Given the description of an element on the screen output the (x, y) to click on. 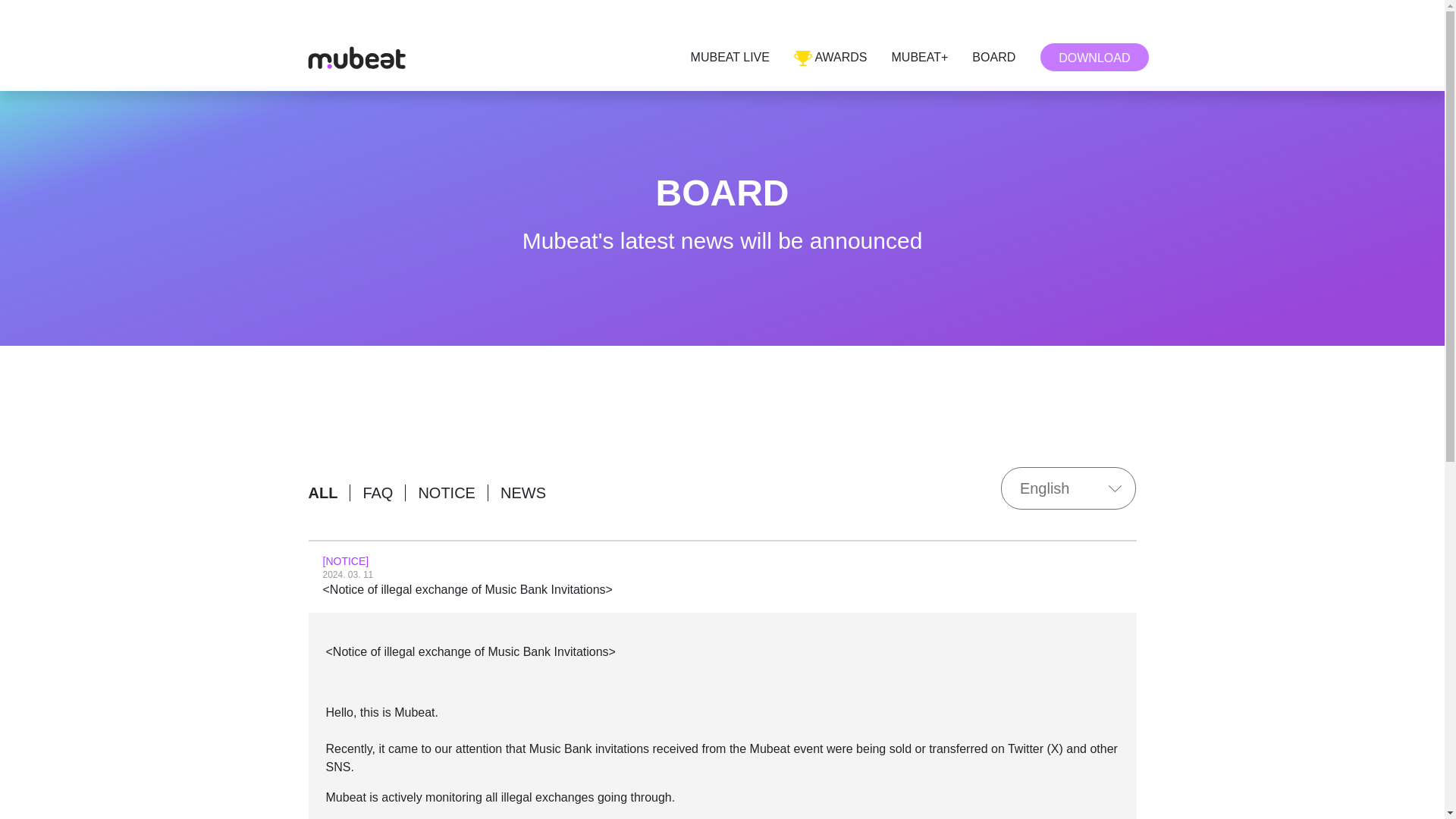
DOWNLOAD (1093, 57)
NOTICE (446, 492)
FAQ (377, 492)
NEWS (523, 492)
DOWNLOAD (1093, 57)
BOARD (993, 57)
BOARD (993, 57)
 AWARDS (830, 57)
English (1069, 487)
MUBEAT LIVE (729, 57)
